Given the description of an element on the screen output the (x, y) to click on. 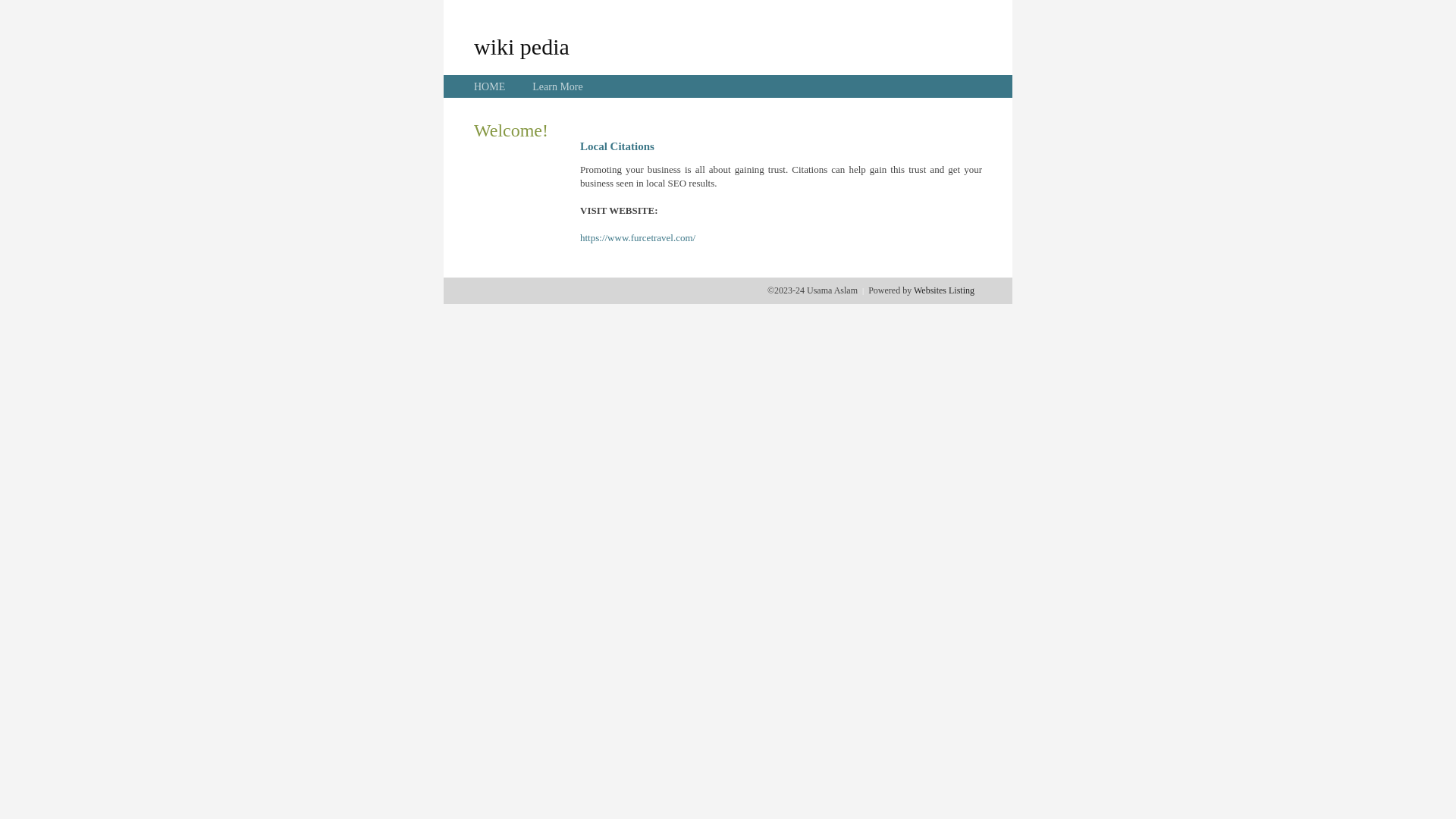
Websites Listing Element type: text (943, 290)
HOME Element type: text (489, 86)
https://www.furcetravel.com/ Element type: text (637, 237)
wiki pedia Element type: text (521, 46)
Learn More Element type: text (557, 86)
